Given the description of an element on the screen output the (x, y) to click on. 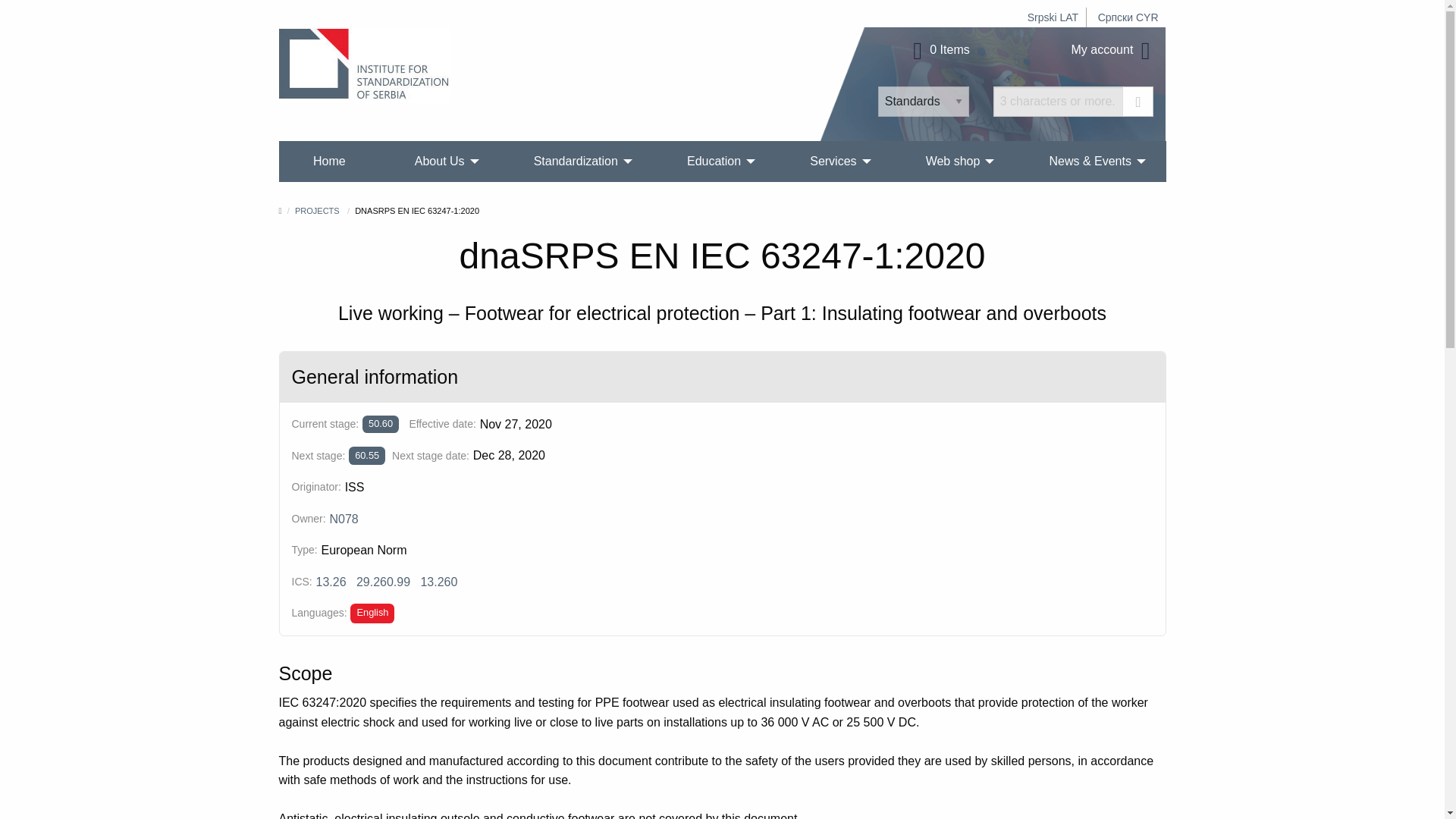
My account (1112, 49)
Srpski LAT (1052, 17)
About Us (439, 160)
My account (1112, 49)
Shopping cart (938, 49)
Home (329, 160)
Close of voting. Proof returned by secretariat (380, 424)
Search (1138, 101)
0 Items (938, 49)
